Given the description of an element on the screen output the (x, y) to click on. 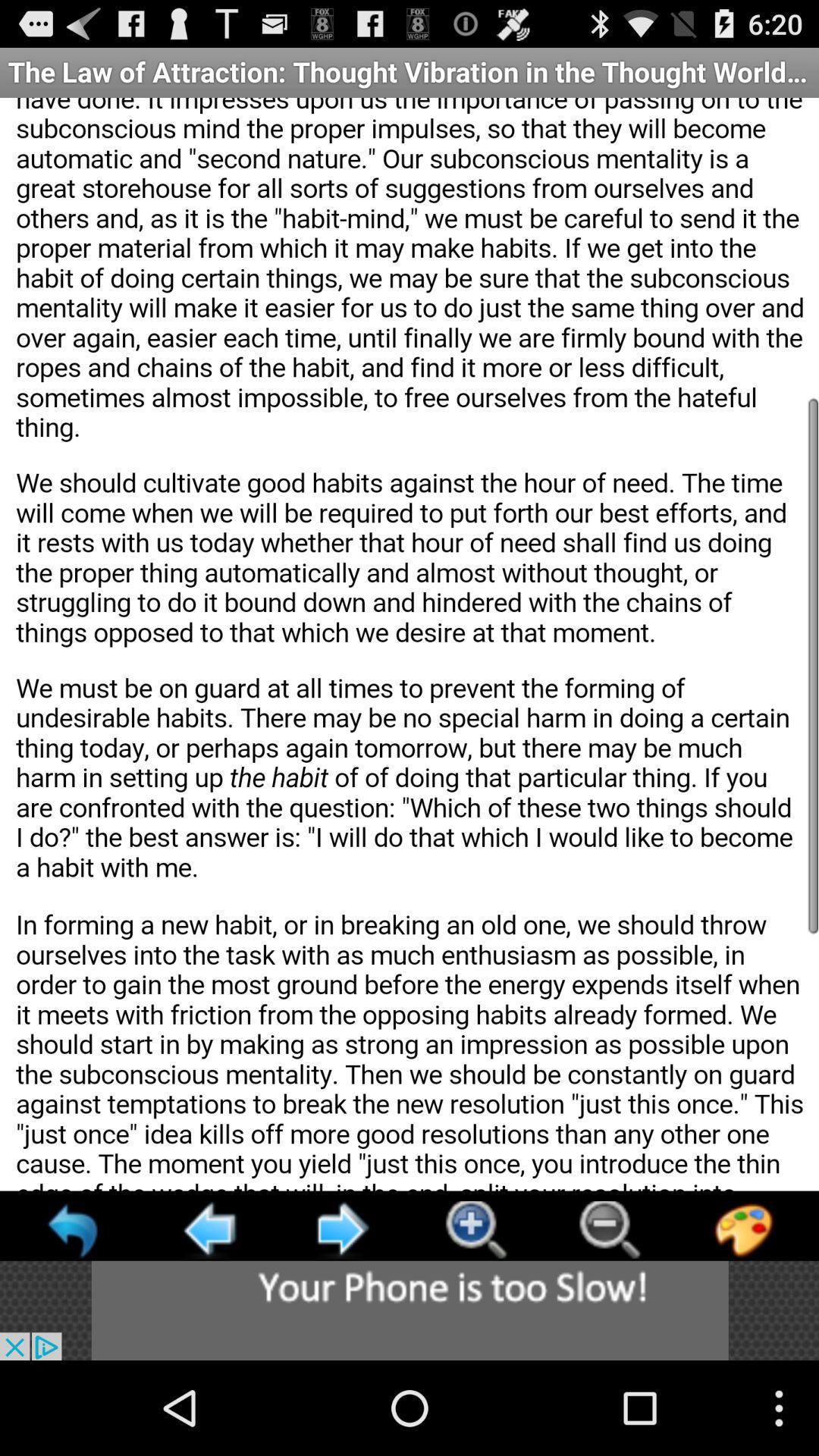
choose colour (743, 1229)
